Given the description of an element on the screen output the (x, y) to click on. 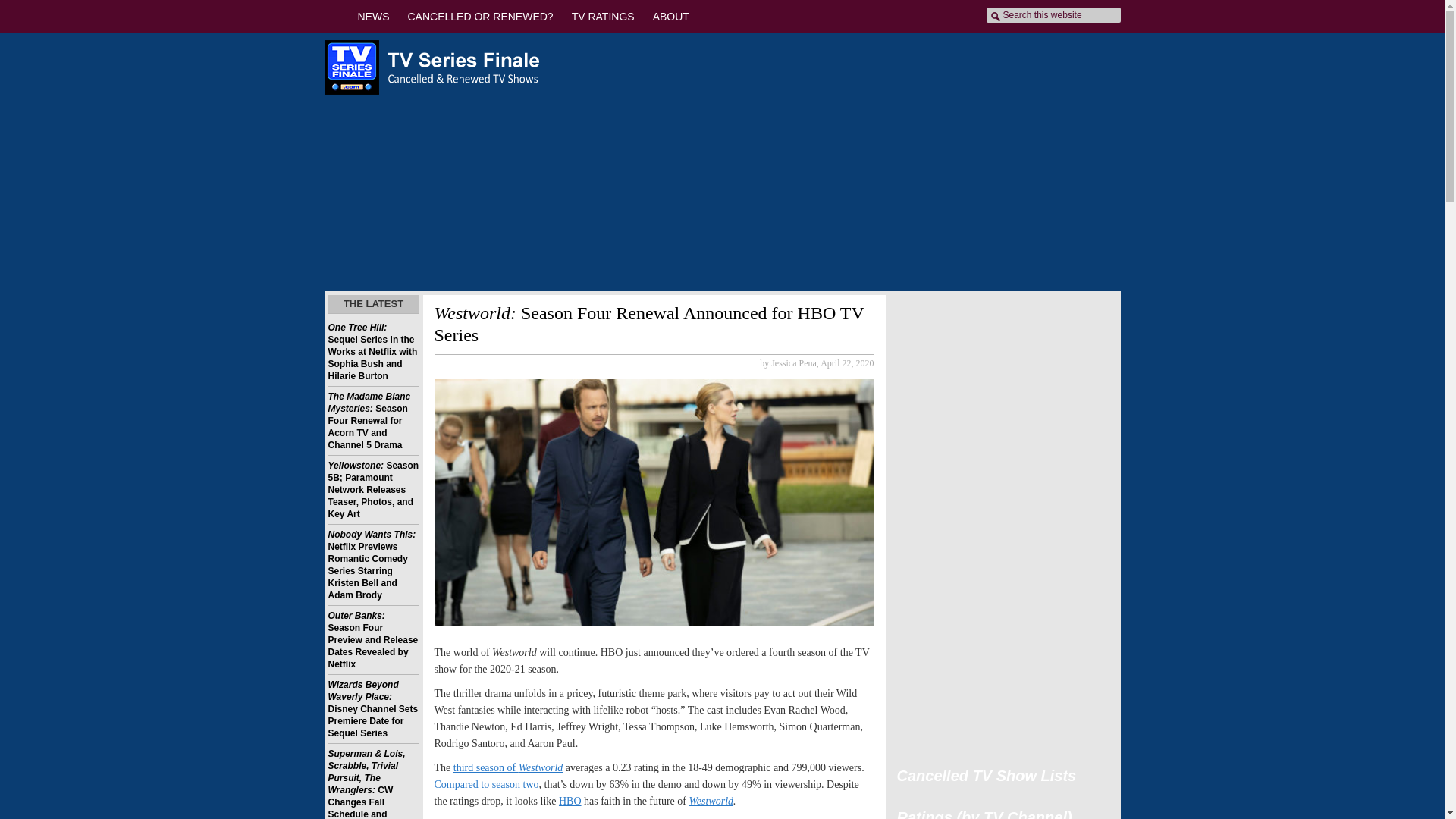
NEWS (373, 16)
HBO (569, 800)
Compared to season two (485, 784)
TV RATINGS (602, 16)
CANCELLED OR RENEWED? (480, 16)
Westworld (710, 800)
ABOUT (670, 16)
